Given the description of an element on the screen output the (x, y) to click on. 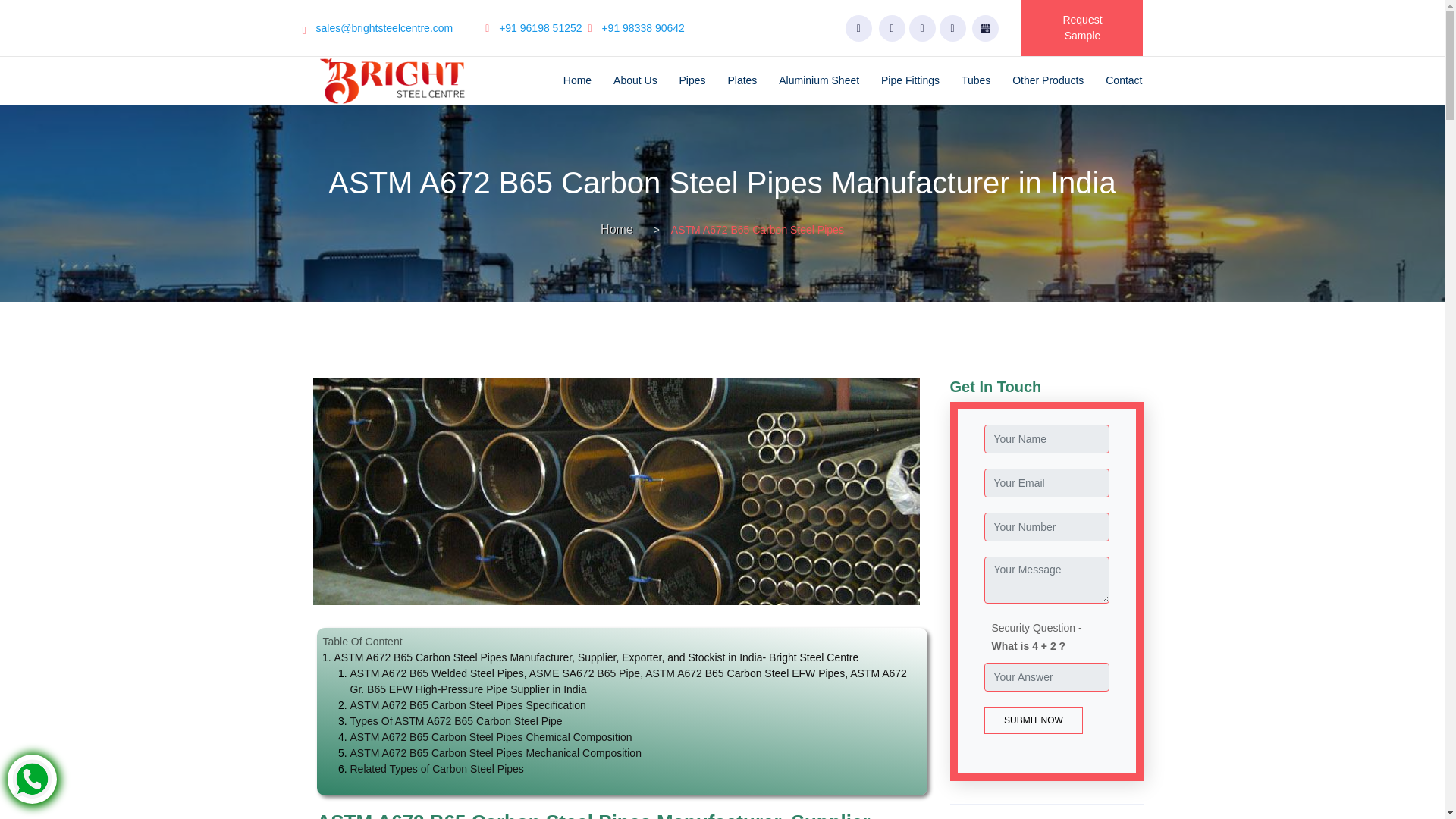
Twitter (922, 28)
About Us (635, 80)
Whatsapp (858, 28)
Direct message to Bright Steel Centre via Whatsapp (31, 778)
LinkedIn (952, 28)
Request Sample (1082, 28)
Google Business (985, 28)
Facebook (892, 28)
